Given the description of an element on the screen output the (x, y) to click on. 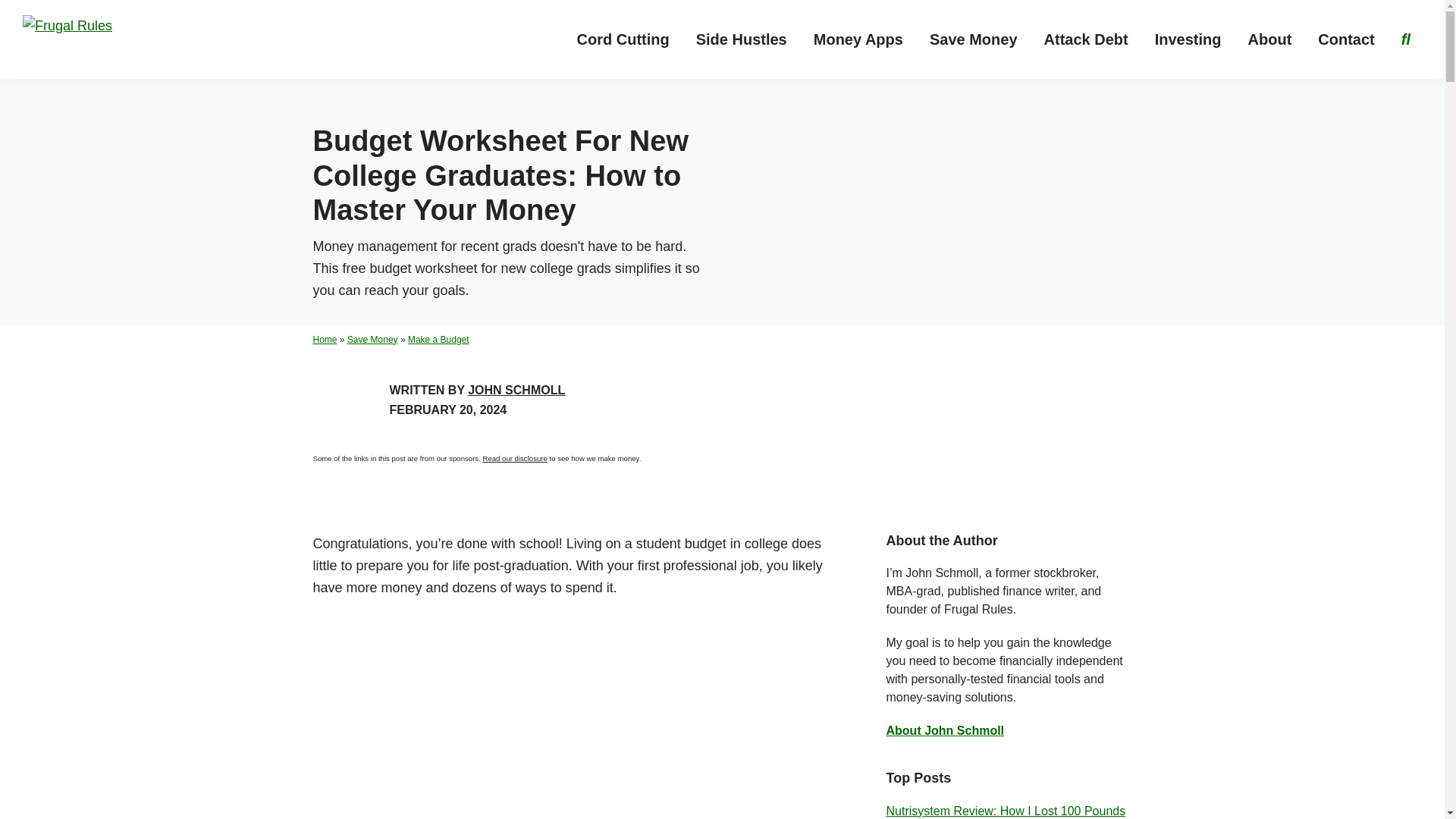
Home (324, 339)
Read our disclosure (514, 458)
Cord Cutting (623, 39)
Contact (1346, 39)
Side Hustles (740, 39)
Investing (1187, 39)
Save Money (973, 39)
JOHN SCHMOLL (515, 390)
Money Apps (858, 39)
About (1269, 39)
Save Money (372, 339)
Make a Budget (437, 339)
Attack Debt (1086, 39)
